Given the description of an element on the screen output the (x, y) to click on. 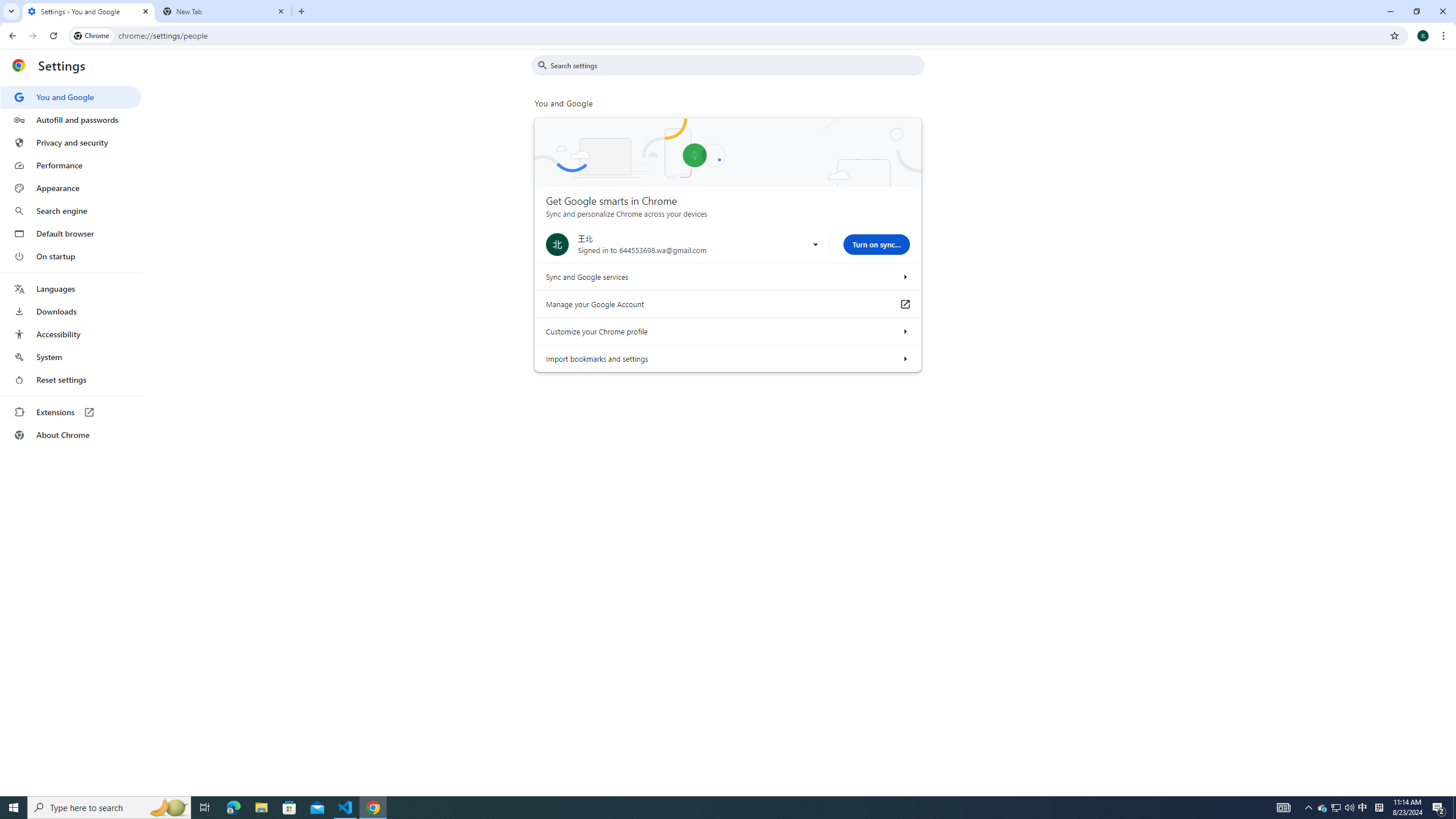
Accessibility (70, 333)
You and Google (70, 96)
Autofill and passwords (70, 119)
Search settings (735, 65)
Sync and Google services (904, 275)
Languages (70, 288)
Appearance (70, 187)
Import bookmarks and settings (904, 357)
